Given the description of an element on the screen output the (x, y) to click on. 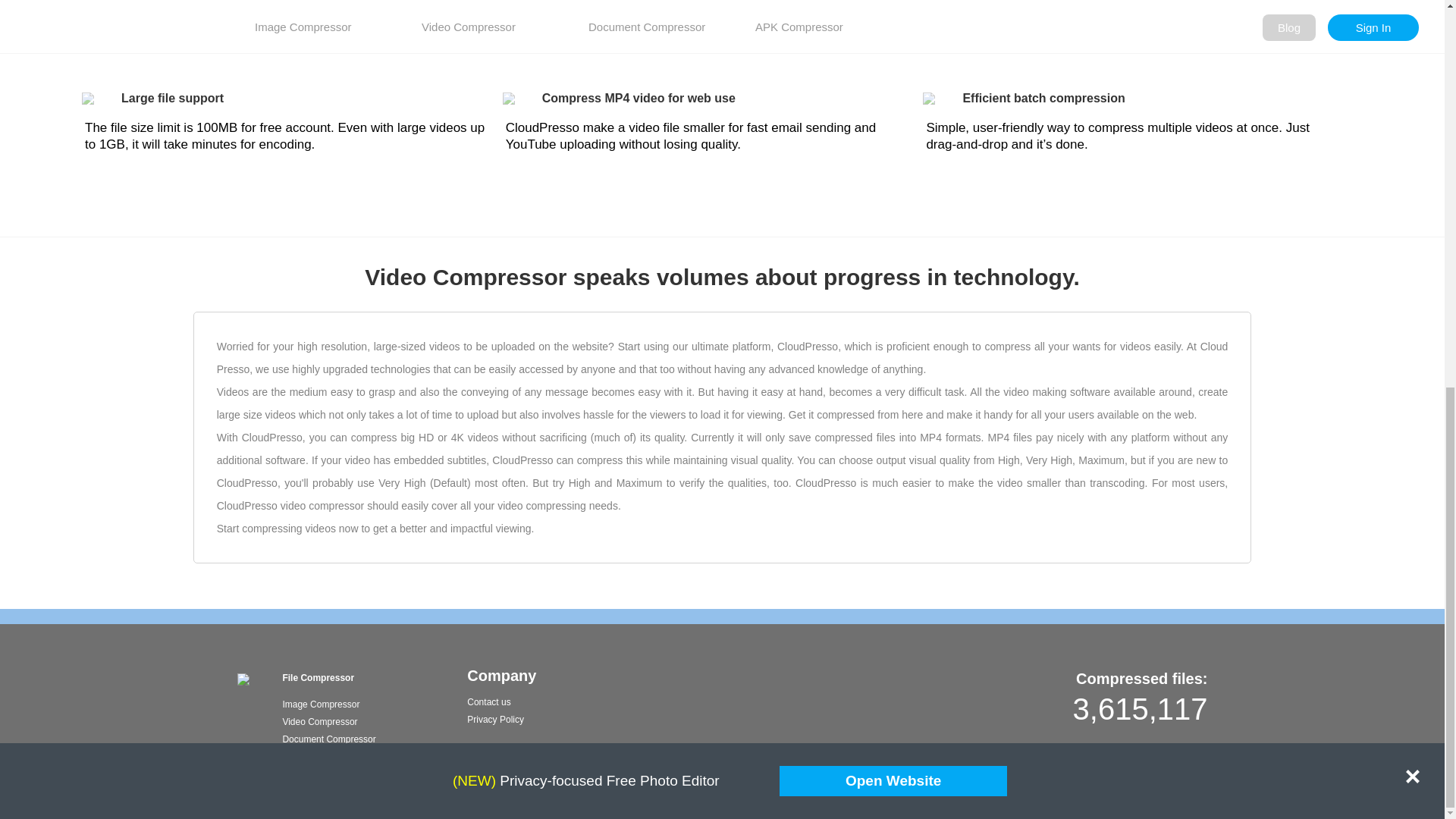
Video Compressor (319, 721)
Contact us (489, 701)
Privacy Policy (495, 719)
APK Compressor (317, 756)
Image Compressor (320, 704)
Document Compressor (328, 738)
File Compressor (317, 677)
